Given the description of an element on the screen output the (x, y) to click on. 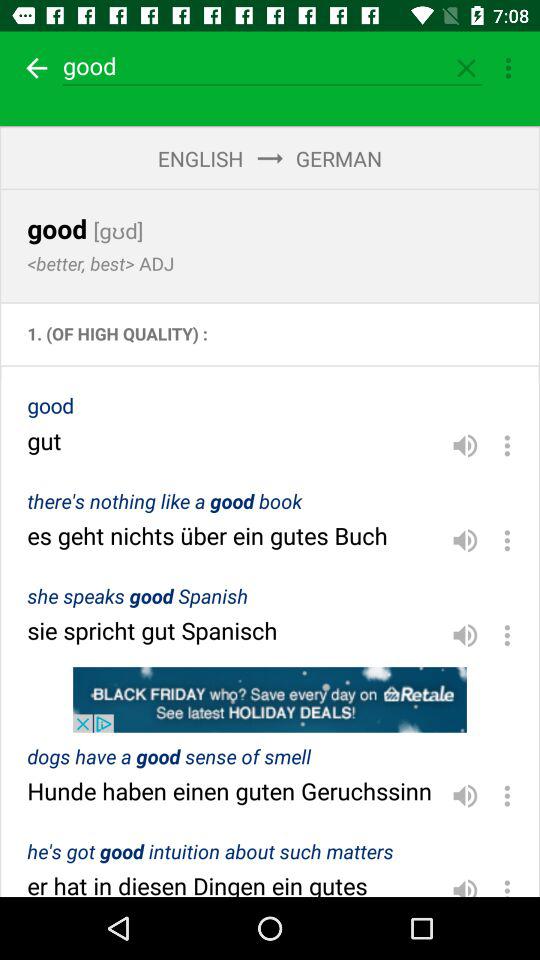
volume option (465, 445)
